Given the description of an element on the screen output the (x, y) to click on. 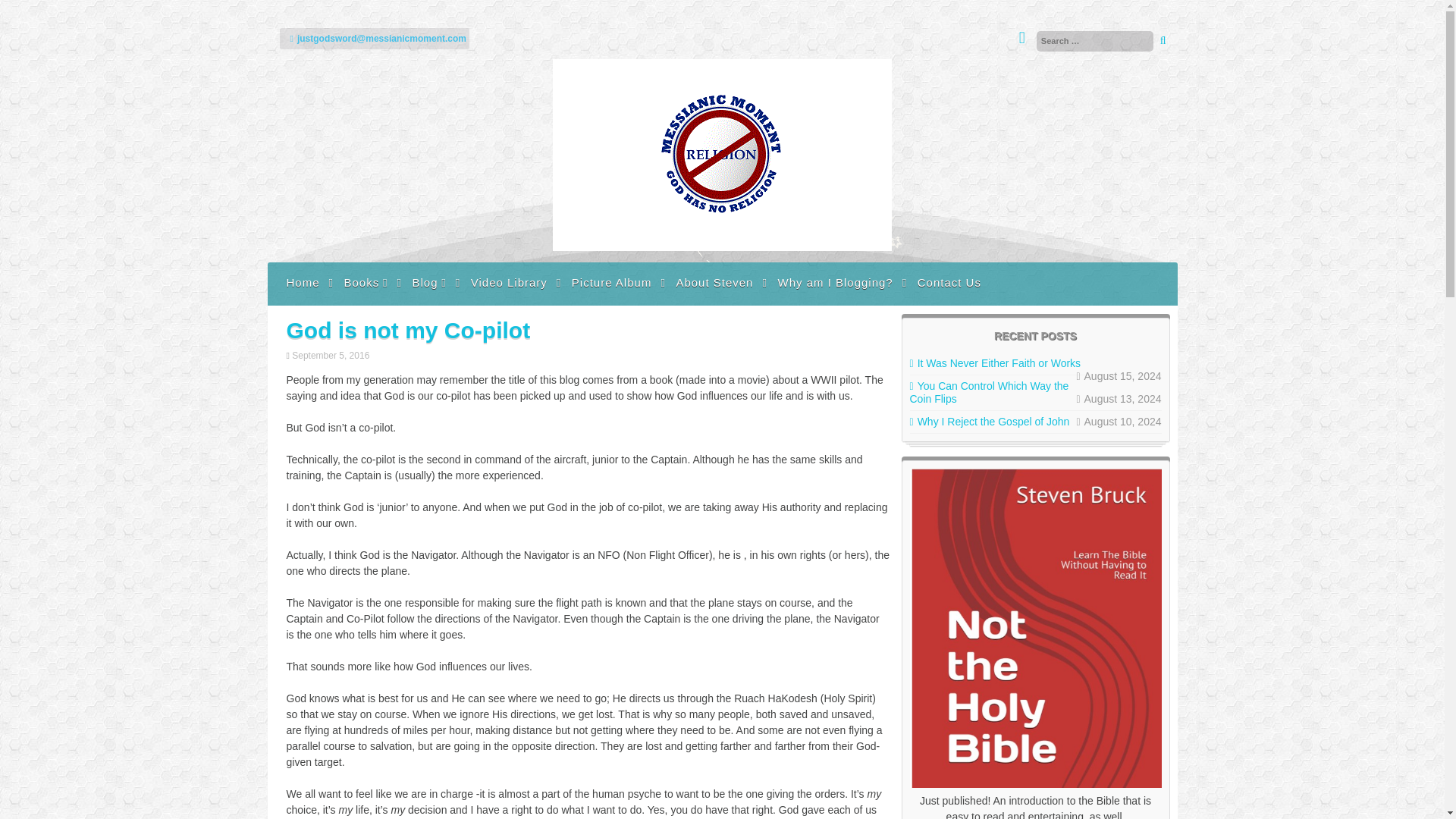
Home (302, 282)
Video Library (509, 282)
Books (366, 282)
Blog (428, 282)
About Steven (713, 282)
Picture Album (612, 282)
Search (28, 12)
Messianic Moment (722, 246)
Contact Us (949, 282)
Why am I Blogging? (834, 282)
